Given the description of an element on the screen output the (x, y) to click on. 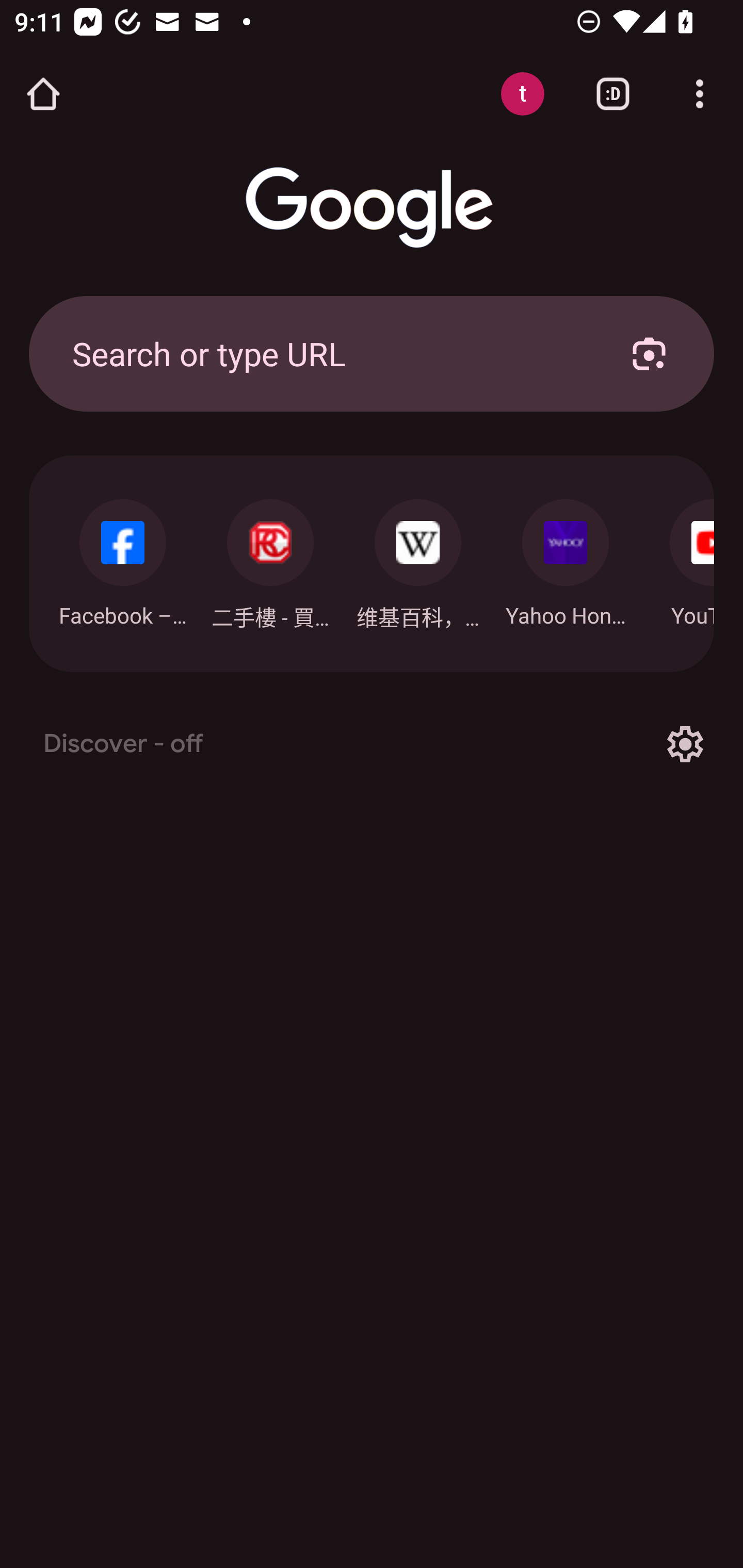
Open the home page (43, 93)
Switch or close tabs (612, 93)
Customize and control Google Chrome (699, 93)
Search or type URL (327, 353)
Search with your camera using Google Lens (648, 353)
Options for Discover (684, 743)
